Given the description of an element on the screen output the (x, y) to click on. 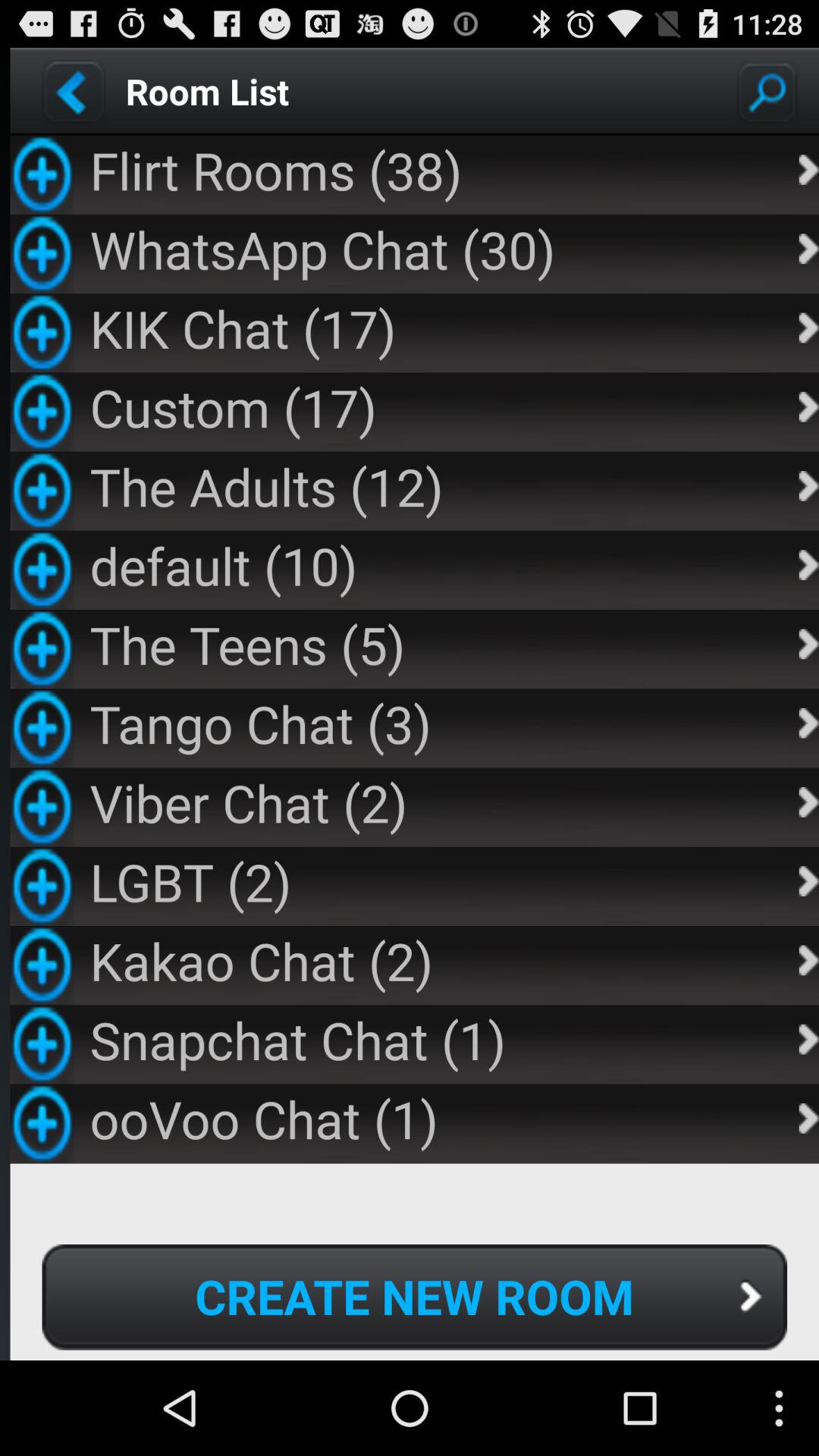
search rooms (767, 91)
